Given the description of an element on the screen output the (x, y) to click on. 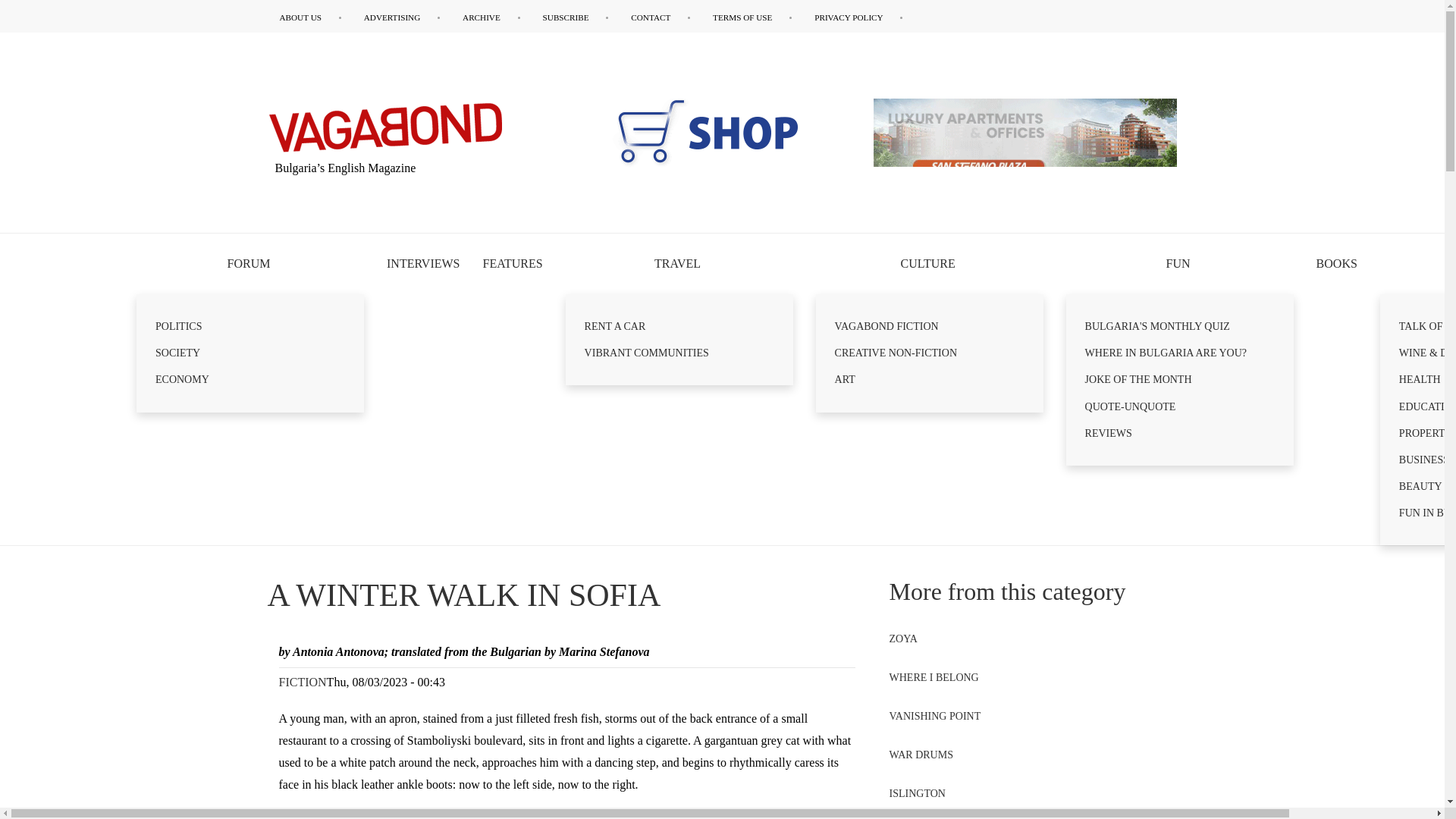
FORUM (250, 263)
SUBSCRIBE (575, 17)
VIBRANT COMMUNITIES (679, 352)
TERMS OF USE (752, 17)
ADVERTISING (401, 17)
ECONOMY (250, 379)
RENT A CAR (679, 325)
SOCIETY (250, 352)
TRAVEL (679, 263)
CULTURE (929, 263)
